Given the description of an element on the screen output the (x, y) to click on. 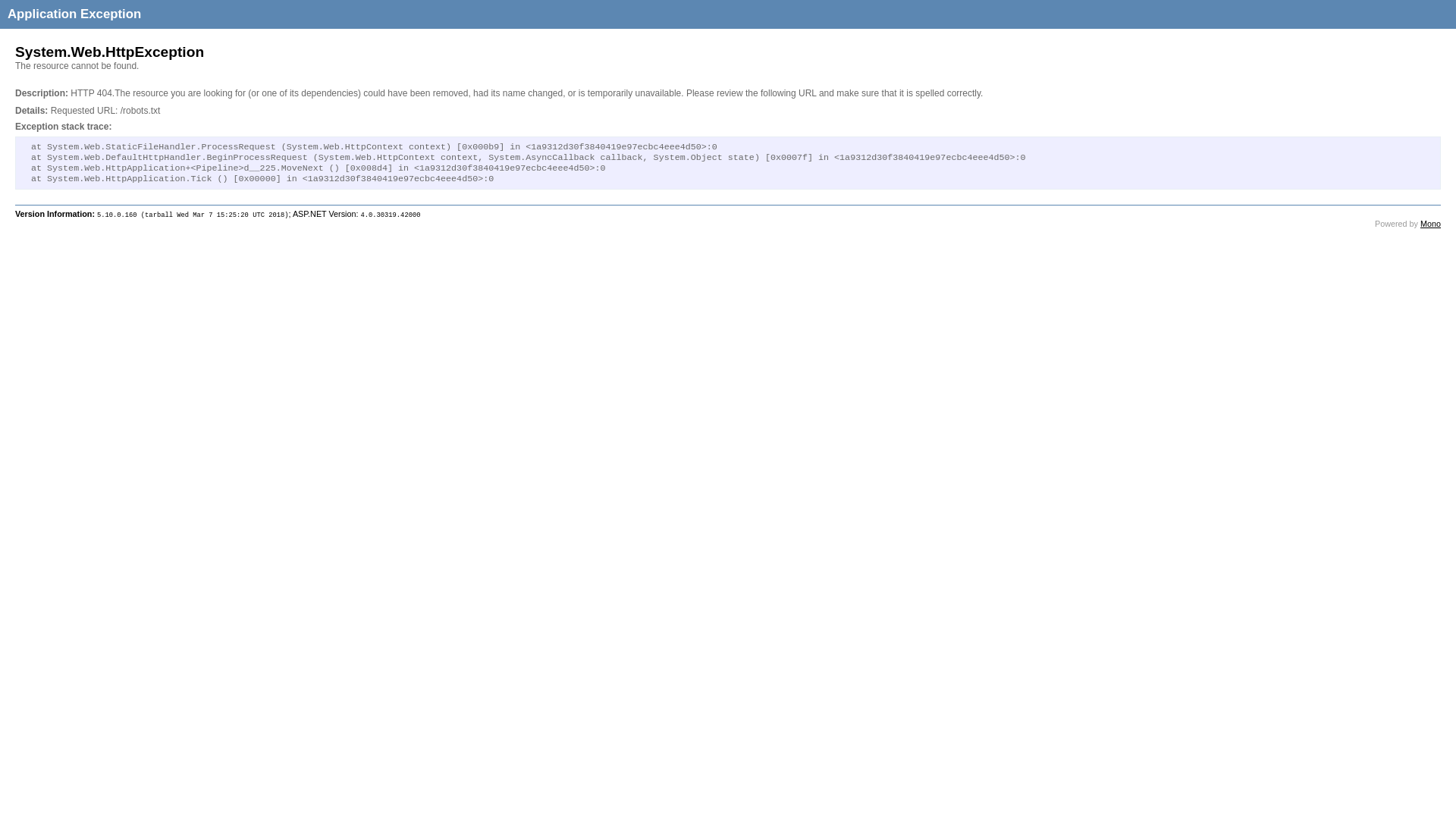
Mono Element type: text (1430, 223)
